Given the description of an element on the screen output the (x, y) to click on. 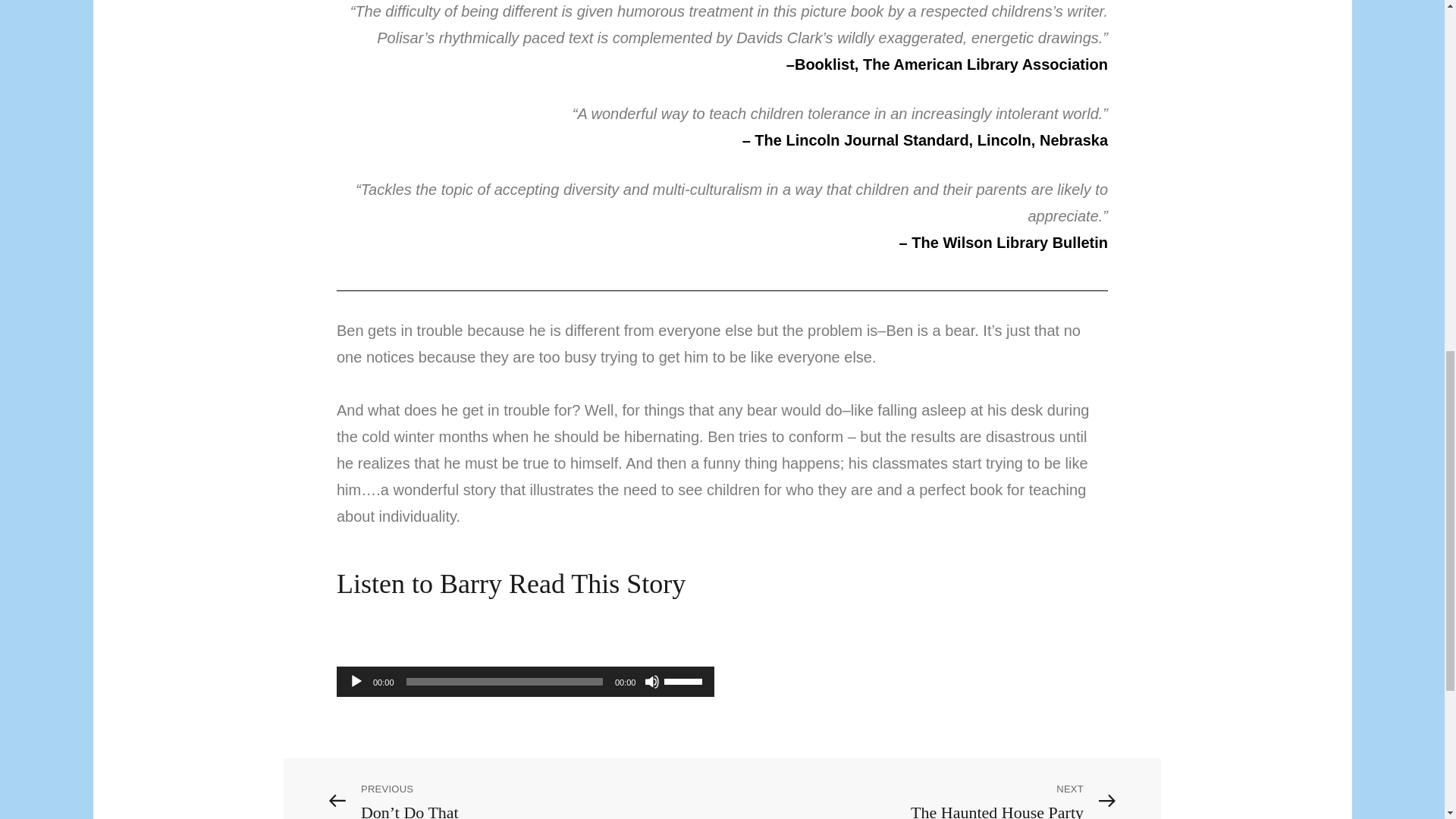
Mute (652, 681)
Play (356, 681)
